Given the description of an element on the screen output the (x, y) to click on. 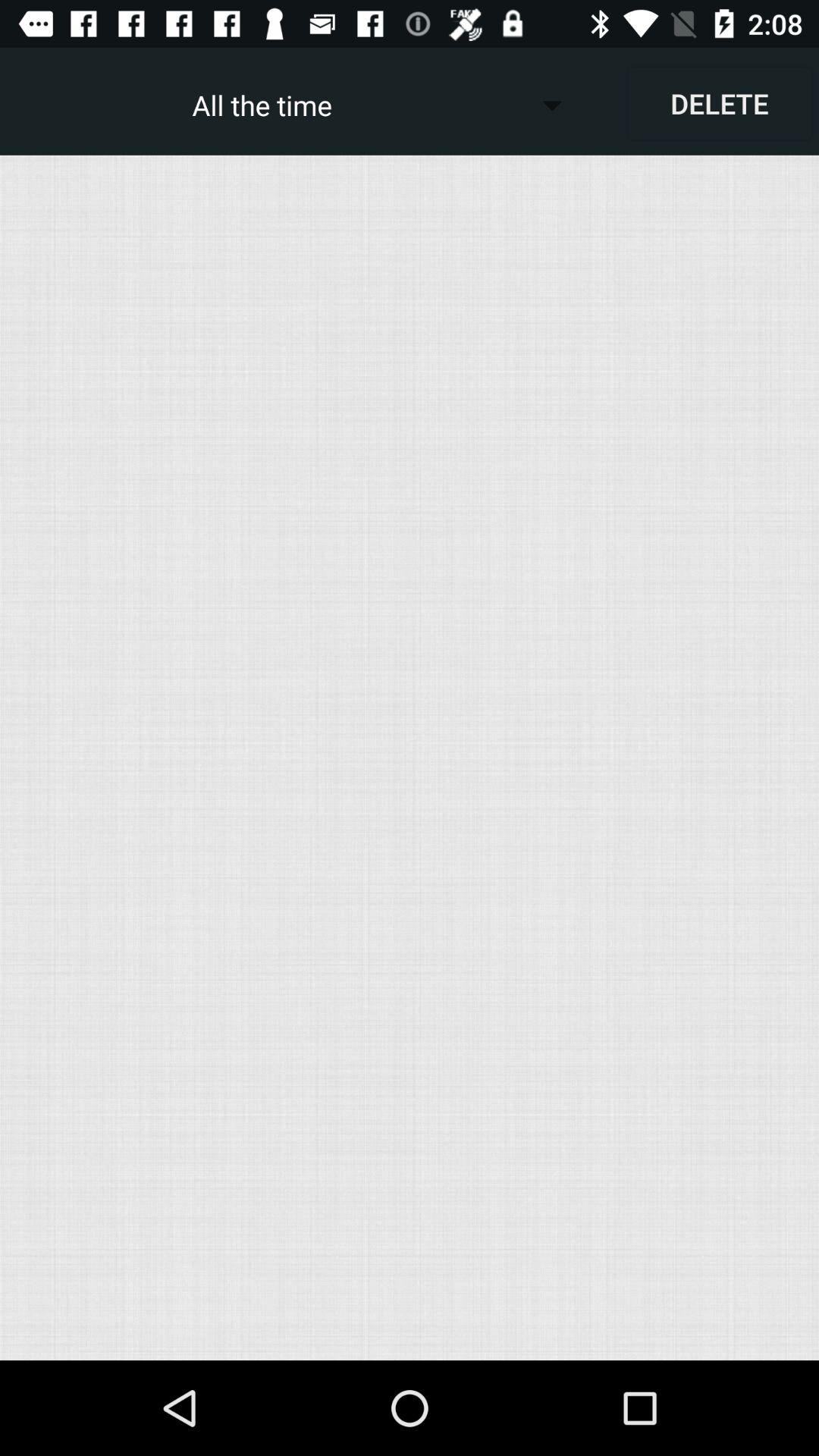
launch icon at the top right corner (719, 103)
